Given the description of an element on the screen output the (x, y) to click on. 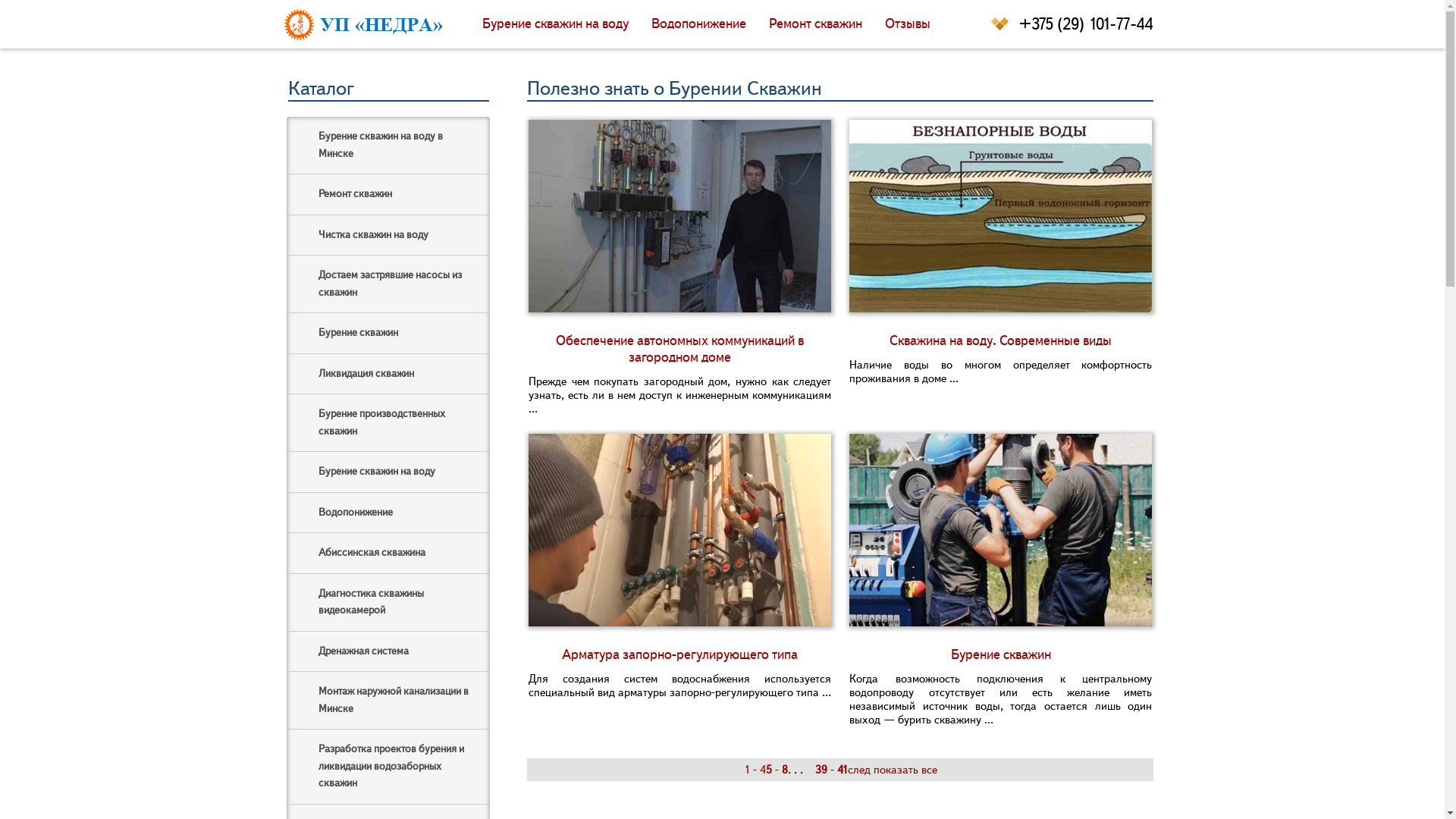
1 - 4 Element type: text (754, 769)
+375 (29) 101-77-44 Element type: hover (1000, 23)
+375 (29) 101-77-44 Element type: text (715, 23)
http://skvazhina-na-vodu.by Element type: hover (355, 24)
http://skvazhina-na-vodu.by Element type: hover (362, 23)
5 - 8 Element type: text (776, 769)
39 - 41 Element type: text (831, 769)
